Given the description of an element on the screen output the (x, y) to click on. 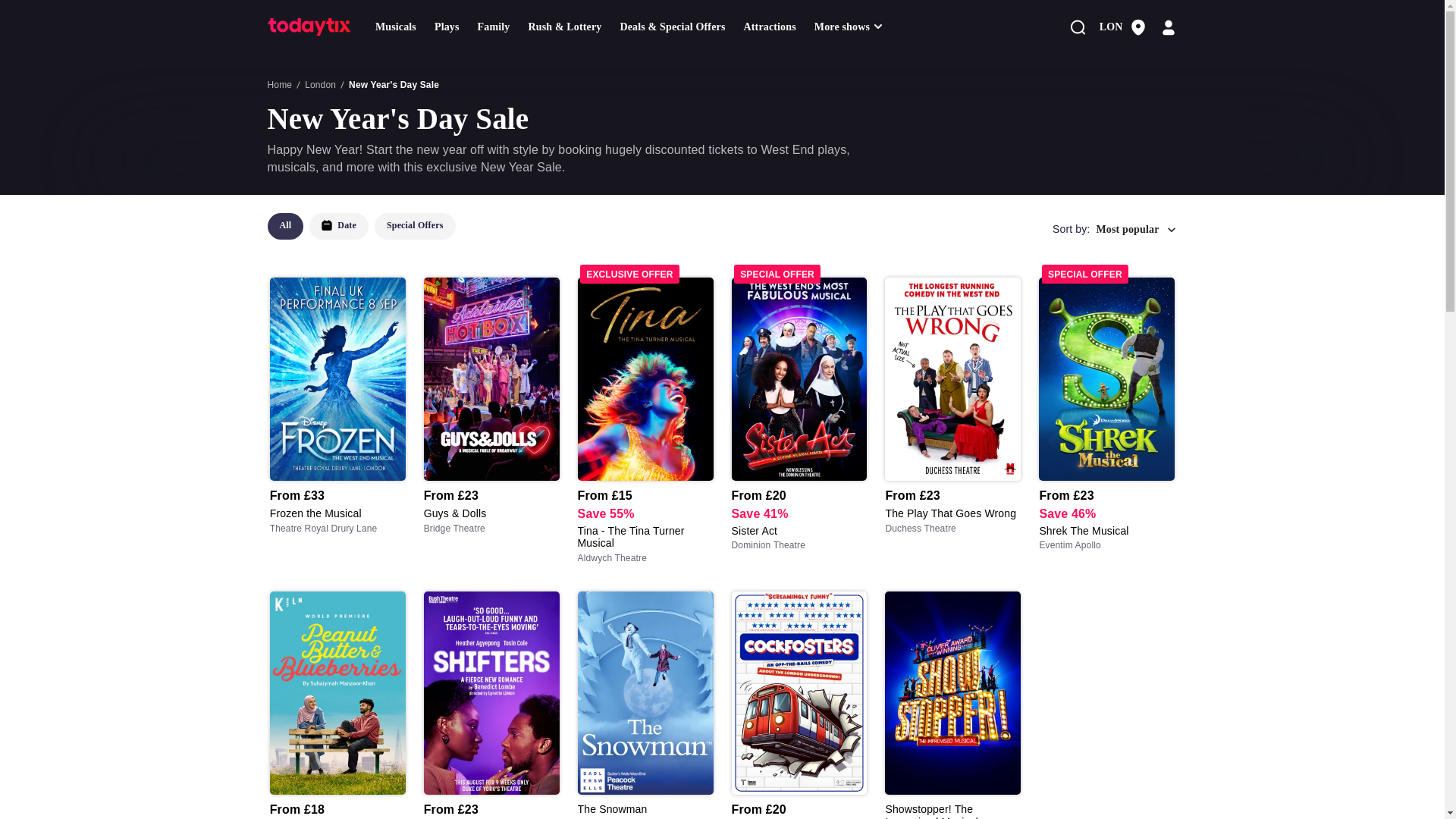
Home (279, 84)
All (284, 225)
Special Offers (414, 225)
New Year's Day Sale (394, 84)
Plays (363, 228)
Family (446, 26)
Musicals (494, 26)
Date (395, 26)
Attractions (338, 225)
London (768, 26)
